Given the description of an element on the screen output the (x, y) to click on. 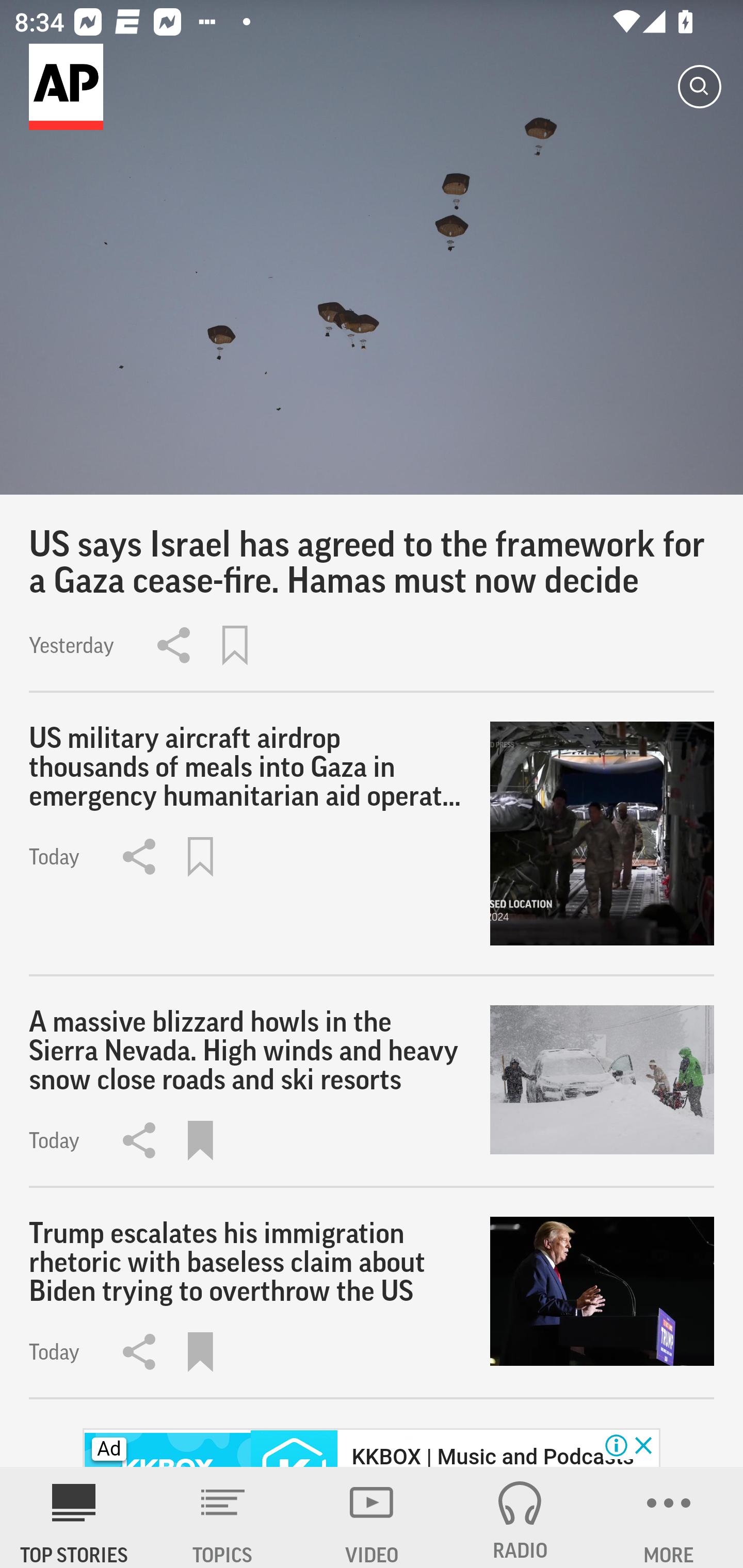
KKBOX | Music and Podcasts (492, 1454)
AP News TOP STORIES (74, 1517)
TOPICS (222, 1517)
VIDEO (371, 1517)
RADIO (519, 1517)
MORE (668, 1517)
